Given the description of an element on the screen output the (x, y) to click on. 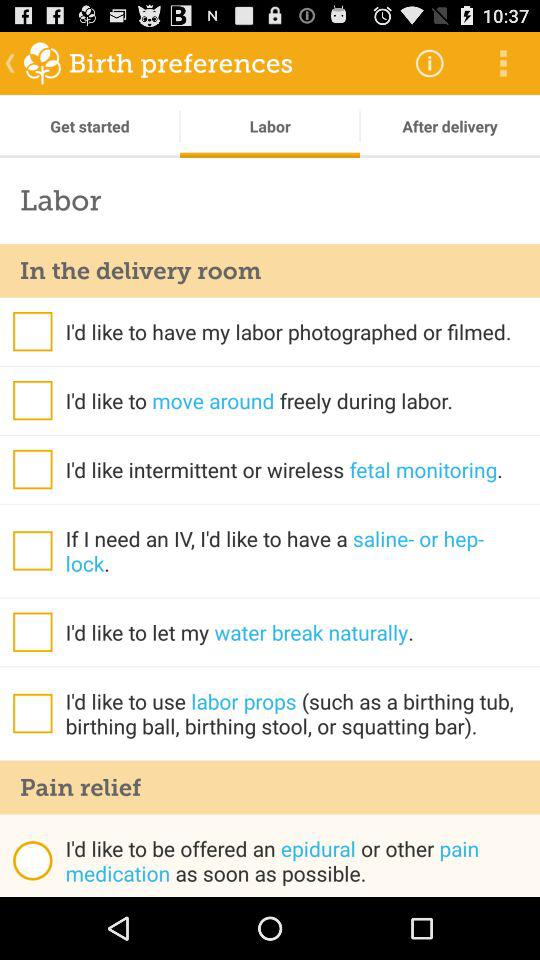
toggle preference for natural water breaking (32, 631)
